Given the description of an element on the screen output the (x, y) to click on. 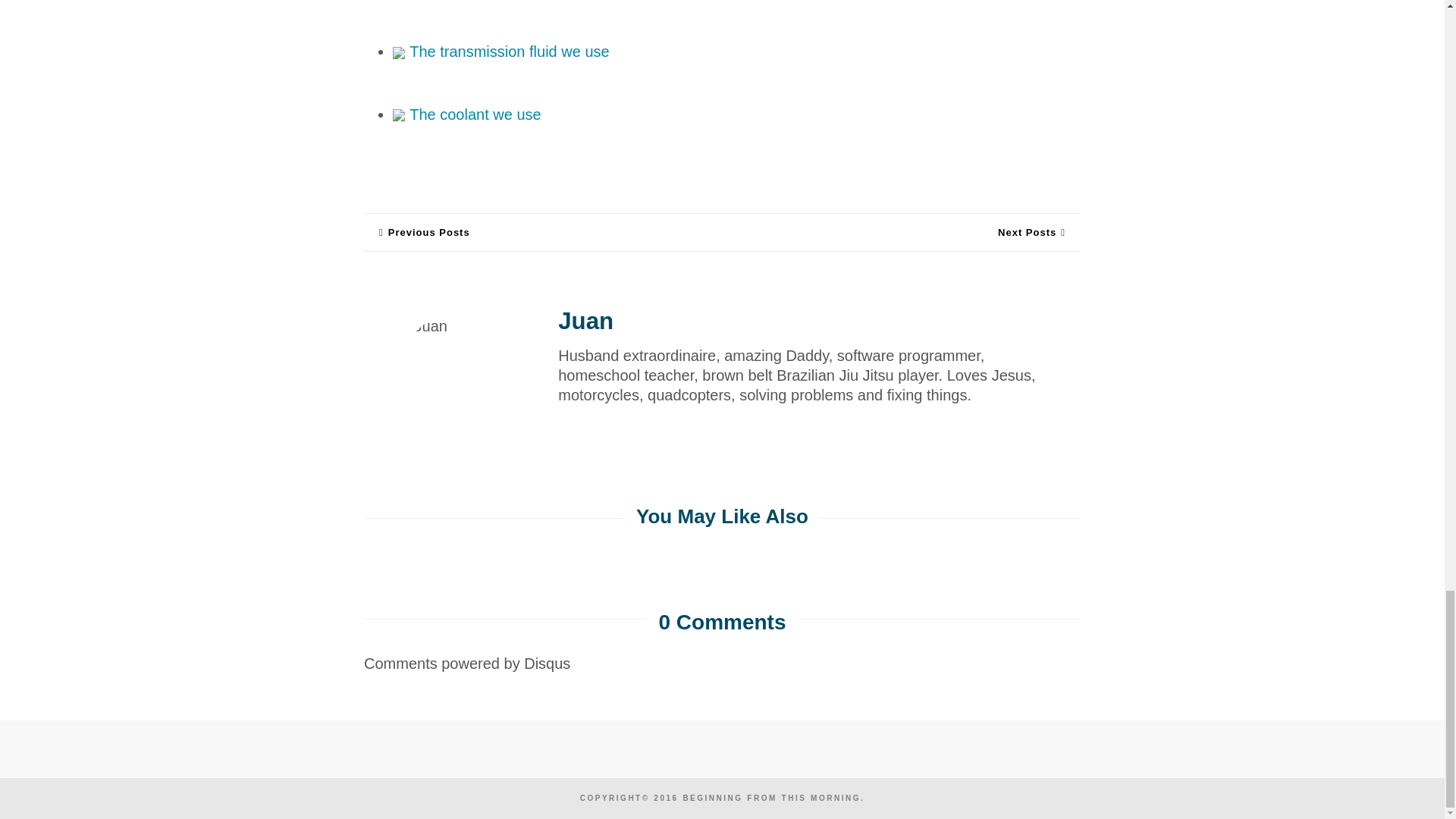
Next Posts (1031, 232)
0 Comments (722, 621)
The transmission fluid we use (501, 51)
Comments powered by Disqus (467, 663)
Previous Posts (424, 232)
The coolant we use (467, 113)
